Given the description of an element on the screen output the (x, y) to click on. 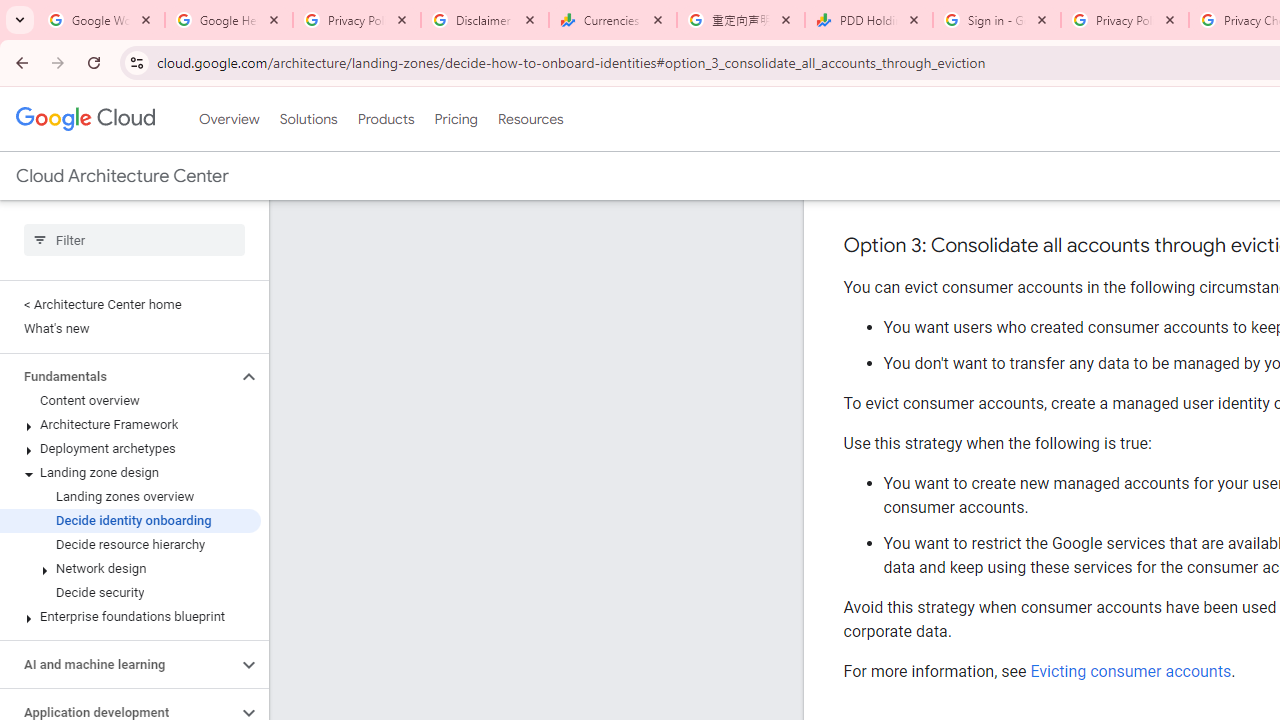
Decide security (130, 592)
Landing zones overview (130, 497)
Deployment archetypes (130, 448)
Enterprise foundations blueprint (130, 616)
What's new (130, 328)
Solutions (308, 119)
Architecture Framework (130, 425)
AI and machine learning (118, 664)
Landing zone design (130, 472)
